Given the description of an element on the screen output the (x, y) to click on. 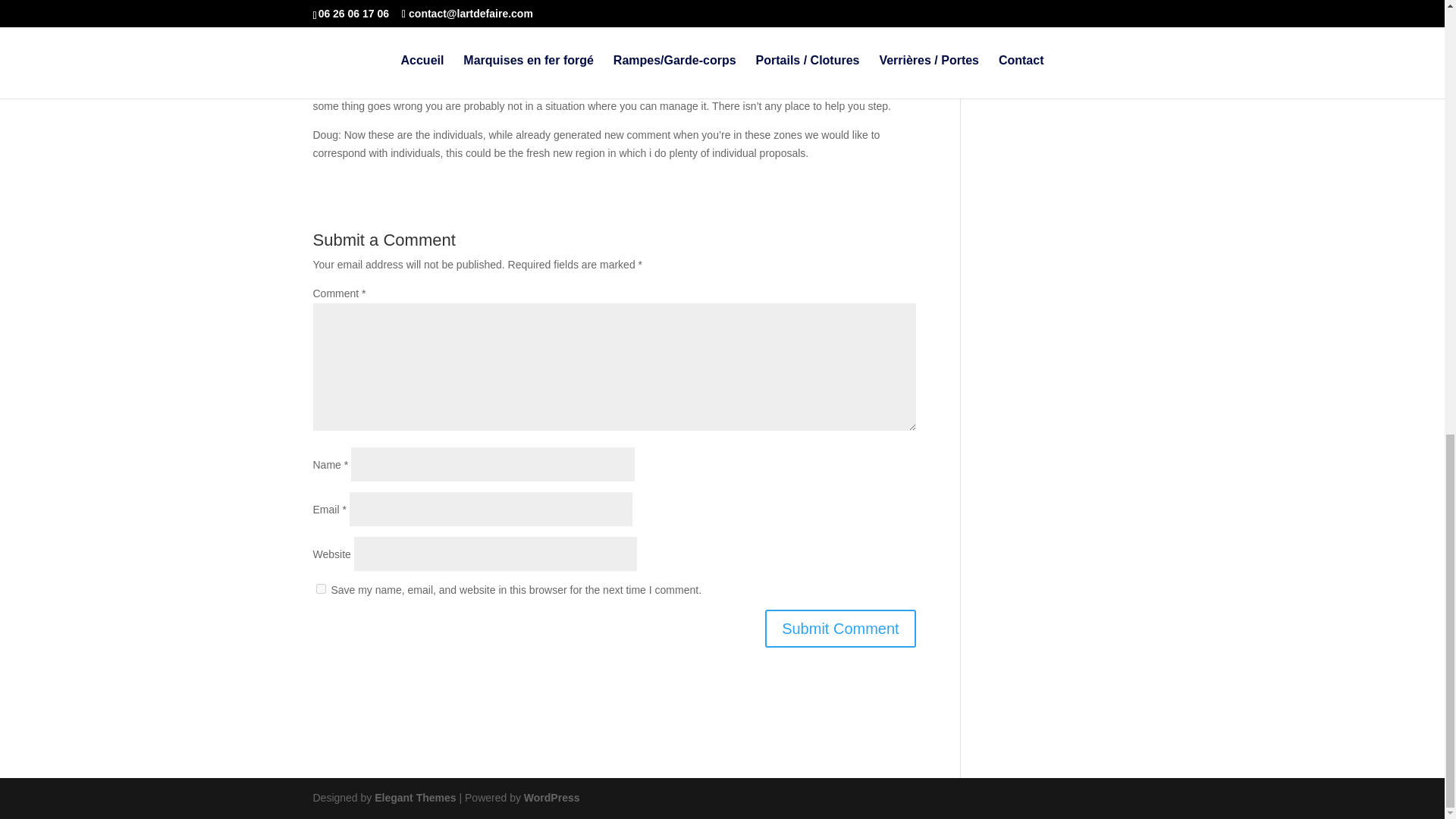
Premium WordPress Themes (414, 797)
yes (319, 588)
WordPress (551, 797)
Submit Comment (840, 628)
Submit Comment (840, 628)
Elegant Themes (414, 797)
